Given the description of an element on the screen output the (x, y) to click on. 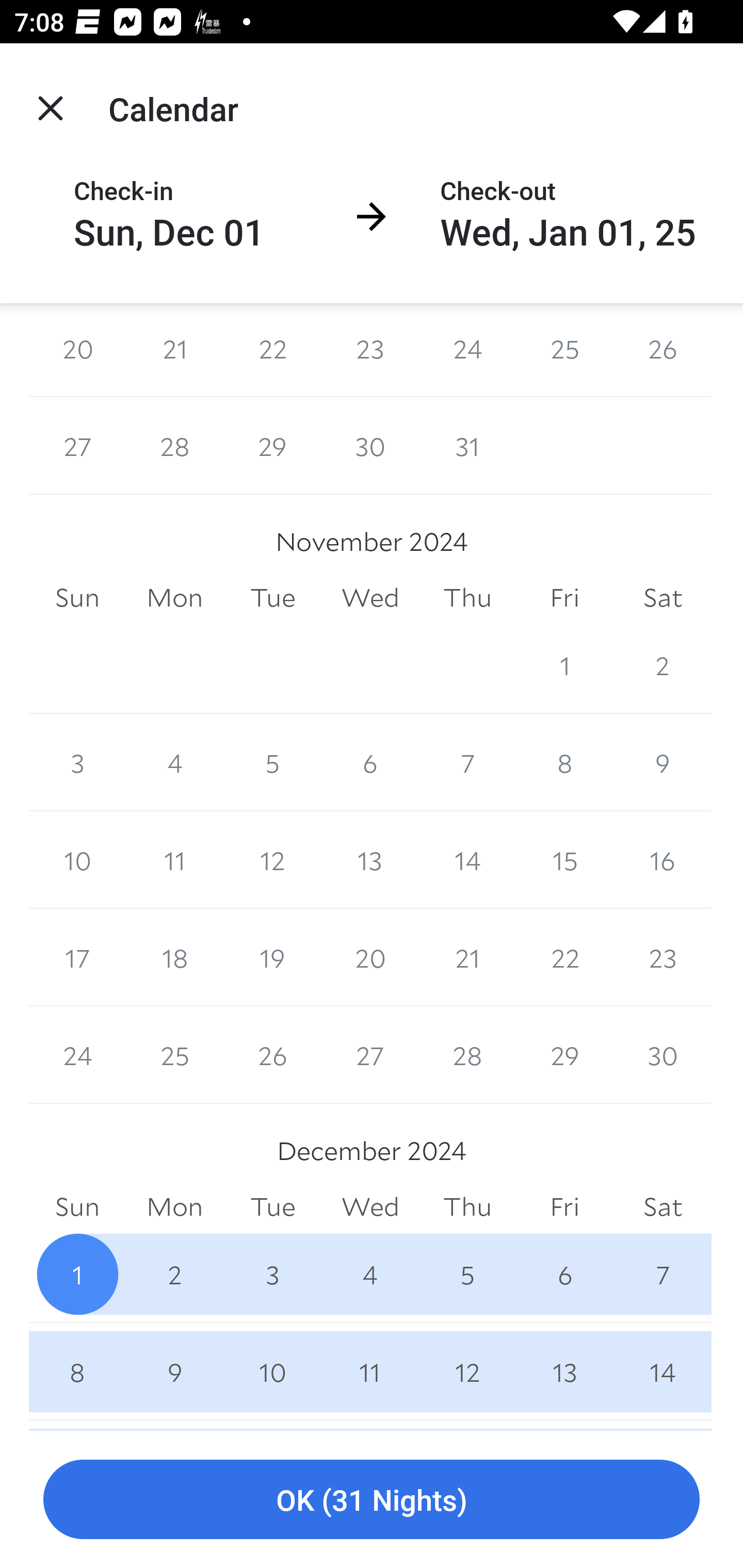
20 20 October 2024 (77, 349)
21 21 October 2024 (174, 349)
22 22 October 2024 (272, 349)
23 23 October 2024 (370, 349)
24 24 October 2024 (467, 349)
25 25 October 2024 (564, 349)
26 26 October 2024 (662, 349)
27 27 October 2024 (77, 444)
28 28 October 2024 (174, 444)
29 29 October 2024 (272, 444)
30 30 October 2024 (370, 444)
31 31 October 2024 (467, 444)
Sun (77, 597)
Mon (174, 597)
Tue (272, 597)
Wed (370, 597)
Thu (467, 597)
Fri (564, 597)
Sat (662, 597)
1 1 November 2024 (564, 664)
2 2 November 2024 (662, 664)
3 3 November 2024 (77, 761)
4 4 November 2024 (174, 761)
5 5 November 2024 (272, 761)
6 6 November 2024 (370, 761)
7 7 November 2024 (467, 761)
8 8 November 2024 (564, 761)
9 9 November 2024 (662, 761)
10 10 November 2024 (77, 859)
11 11 November 2024 (174, 859)
12 12 November 2024 (272, 859)
13 13 November 2024 (370, 859)
14 14 November 2024 (467, 859)
15 15 November 2024 (564, 859)
16 16 November 2024 (662, 859)
17 17 November 2024 (77, 957)
18 18 November 2024 (174, 957)
19 19 November 2024 (272, 957)
20 20 November 2024 (370, 957)
21 21 November 2024 (467, 957)
22 22 November 2024 (564, 957)
23 23 November 2024 (662, 957)
24 24 November 2024 (77, 1054)
25 25 November 2024 (174, 1054)
26 26 November 2024 (272, 1054)
27 27 November 2024 (370, 1054)
28 28 November 2024 (467, 1054)
29 29 November 2024 (564, 1054)
30 30 November 2024 (662, 1054)
